Given the description of an element on the screen output the (x, y) to click on. 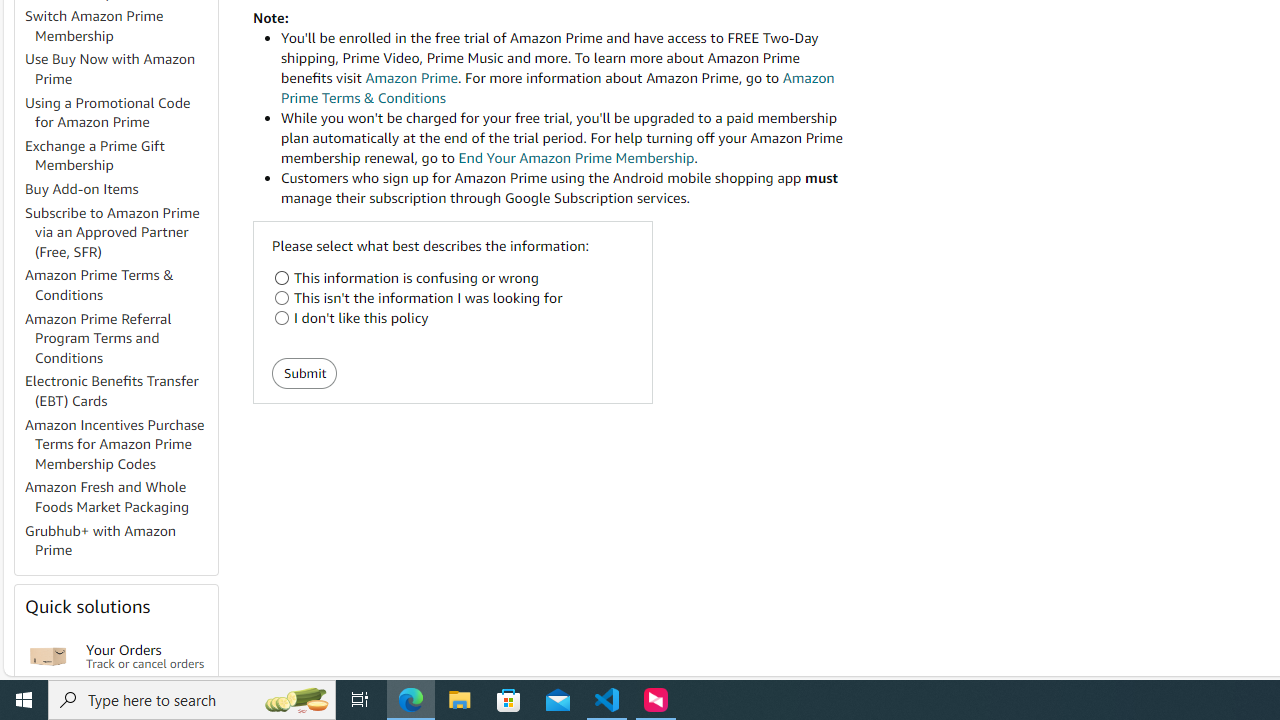
Amazon Prime Terms & Conditions (99, 284)
Submit (304, 373)
Amazon Prime Referral Program Terms and Conditions (98, 337)
Amazon Prime Terms & Conditions (120, 285)
Switch Amazon Prime Membership (94, 25)
End Your Amazon Prime Membership (576, 158)
Grubhub+ with Amazon Prime (100, 540)
Exchange a Prime Gift Membership (120, 156)
Buy Add-on Items (82, 189)
Grubhub+ with Amazon Prime (120, 540)
I don't like this policy (282, 318)
This isn't the information I was looking for (282, 298)
